Given the description of an element on the screen output the (x, y) to click on. 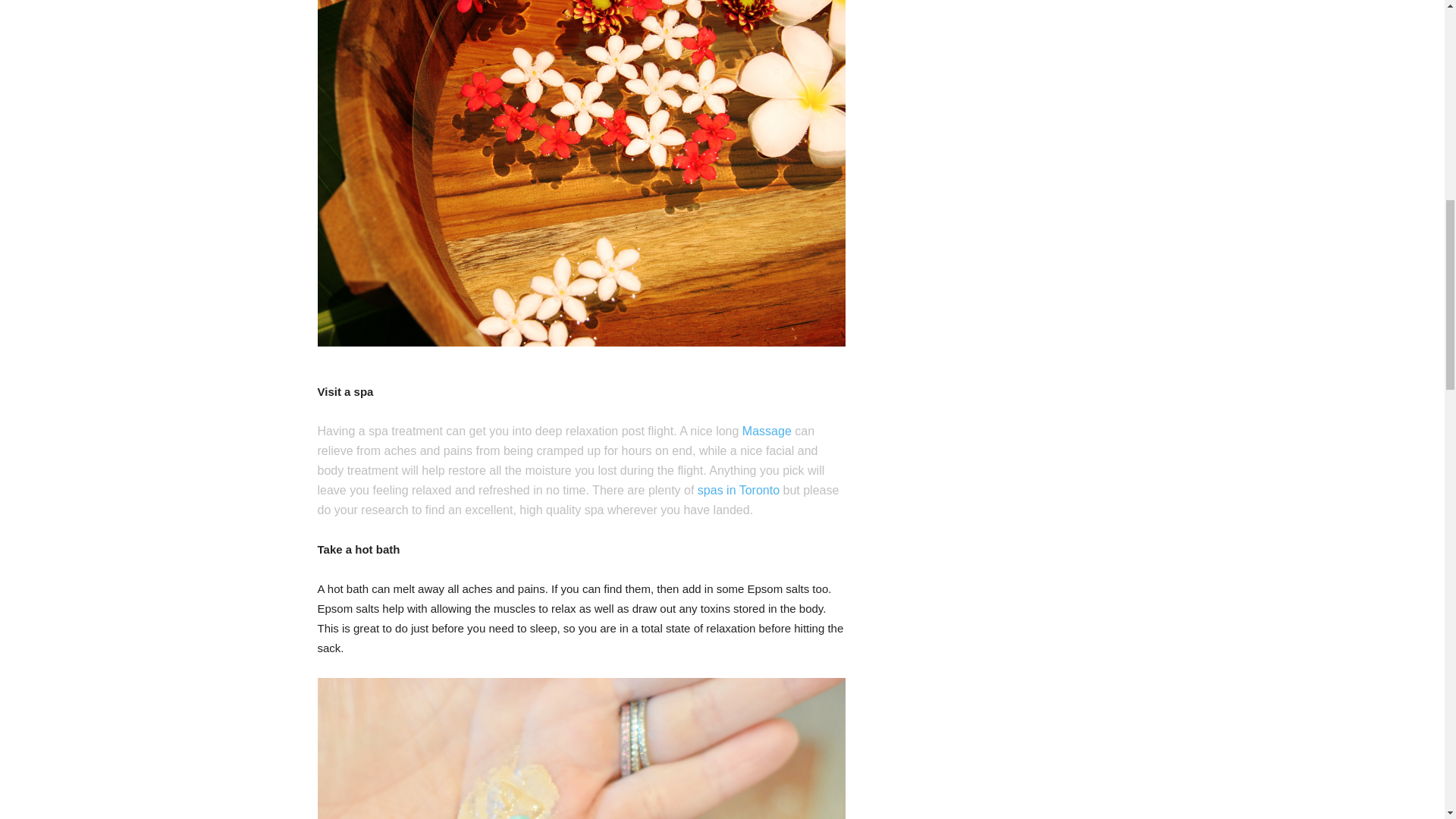
Massage (767, 431)
spas in Toronto (737, 490)
